Given the description of an element on the screen output the (x, y) to click on. 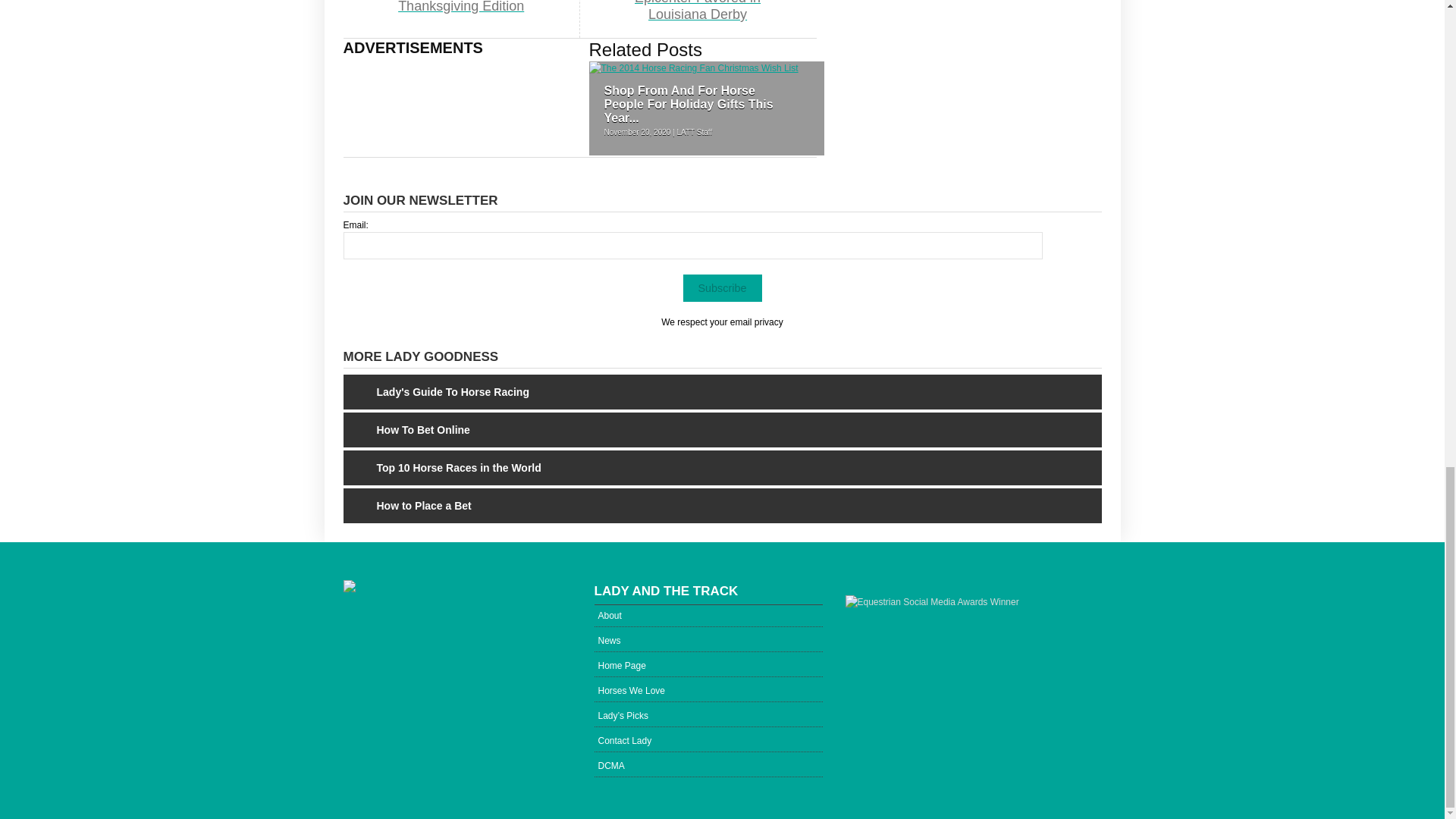
About (708, 614)
How to Place a Bet (408, 505)
Subscribe (721, 288)
Lady's Guide To Horse Racing (437, 391)
Home Page (708, 664)
Subscribe (721, 288)
News (708, 639)
Top 10 Horse Races in the World (443, 467)
How To Bet Online (407, 429)
